Given the description of an element on the screen output the (x, y) to click on. 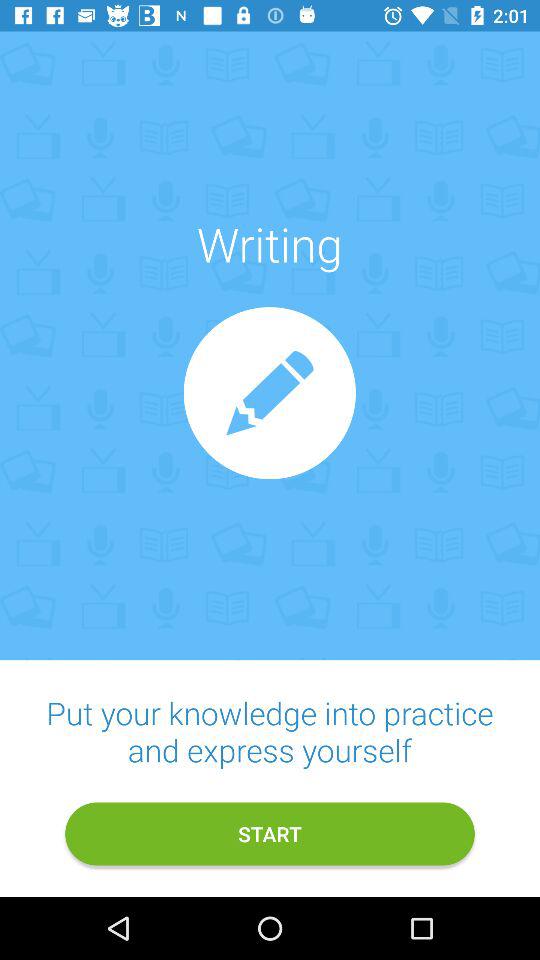
turn on start icon (269, 833)
